Given the description of an element on the screen output the (x, y) to click on. 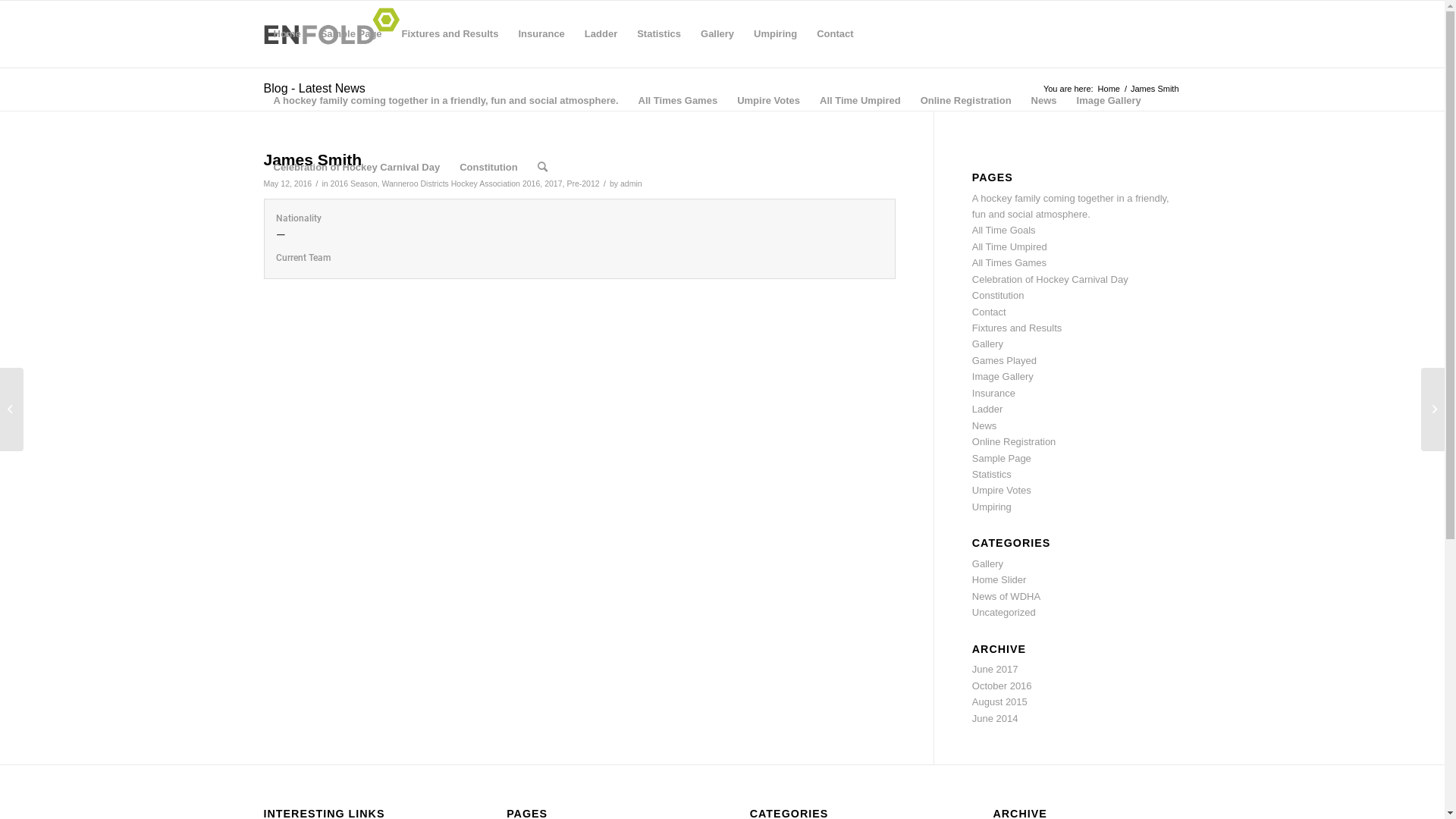
Insurance Element type: text (993, 392)
All Time Goals Element type: text (1003, 229)
All Times Games Element type: text (1009, 262)
All Time Umpired Element type: text (859, 100)
Umpire Votes Element type: text (1001, 489)
Wanneroo Districts Hockey Association Element type: text (450, 183)
Gallery Element type: text (716, 33)
Constitution Element type: text (488, 167)
Celebration of Hockey Carnival Day Element type: text (356, 167)
Sample Page Element type: text (1001, 458)
August 2015 Element type: text (999, 701)
Home Slider Element type: text (999, 579)
Ladder Element type: text (600, 33)
All Times Games Element type: text (678, 100)
2016 Element type: text (530, 183)
Sample Page Element type: text (351, 33)
News of WDHA Element type: text (1006, 596)
Home Element type: text (286, 33)
Statistics Element type: text (658, 33)
Blog - Latest News Element type: text (314, 87)
Image Gallery Element type: text (1002, 376)
Fixtures and Results Element type: text (1017, 327)
Home Element type: text (1108, 88)
June 2014 Element type: text (995, 718)
Gallery Element type: text (987, 563)
All Time Umpired Element type: text (1009, 246)
Image Gallery Element type: text (1108, 100)
Ladder Element type: text (987, 408)
Umpiring Element type: text (774, 33)
Pre-2012 Element type: text (582, 183)
Contact Element type: text (989, 311)
2017 Element type: text (552, 183)
Online Registration Element type: text (1014, 441)
2016 Season Element type: text (353, 183)
Umpire Votes Element type: text (768, 100)
Uncategorized Element type: text (1003, 612)
Constitution Element type: text (998, 295)
News Element type: text (984, 425)
Contact Element type: text (834, 33)
Gallery Element type: text (987, 343)
October 2016 Element type: text (1002, 685)
Insurance Element type: text (541, 33)
Umpiring Element type: text (991, 506)
Online Registration Element type: text (965, 100)
News Element type: text (1043, 100)
Celebration of Hockey Carnival Day Element type: text (1050, 279)
admin Element type: text (631, 183)
Statistics Element type: text (991, 474)
June 2017 Element type: text (995, 668)
Games Played Element type: text (1004, 360)
Fixtures and Results Element type: text (450, 33)
